Given the description of an element on the screen output the (x, y) to click on. 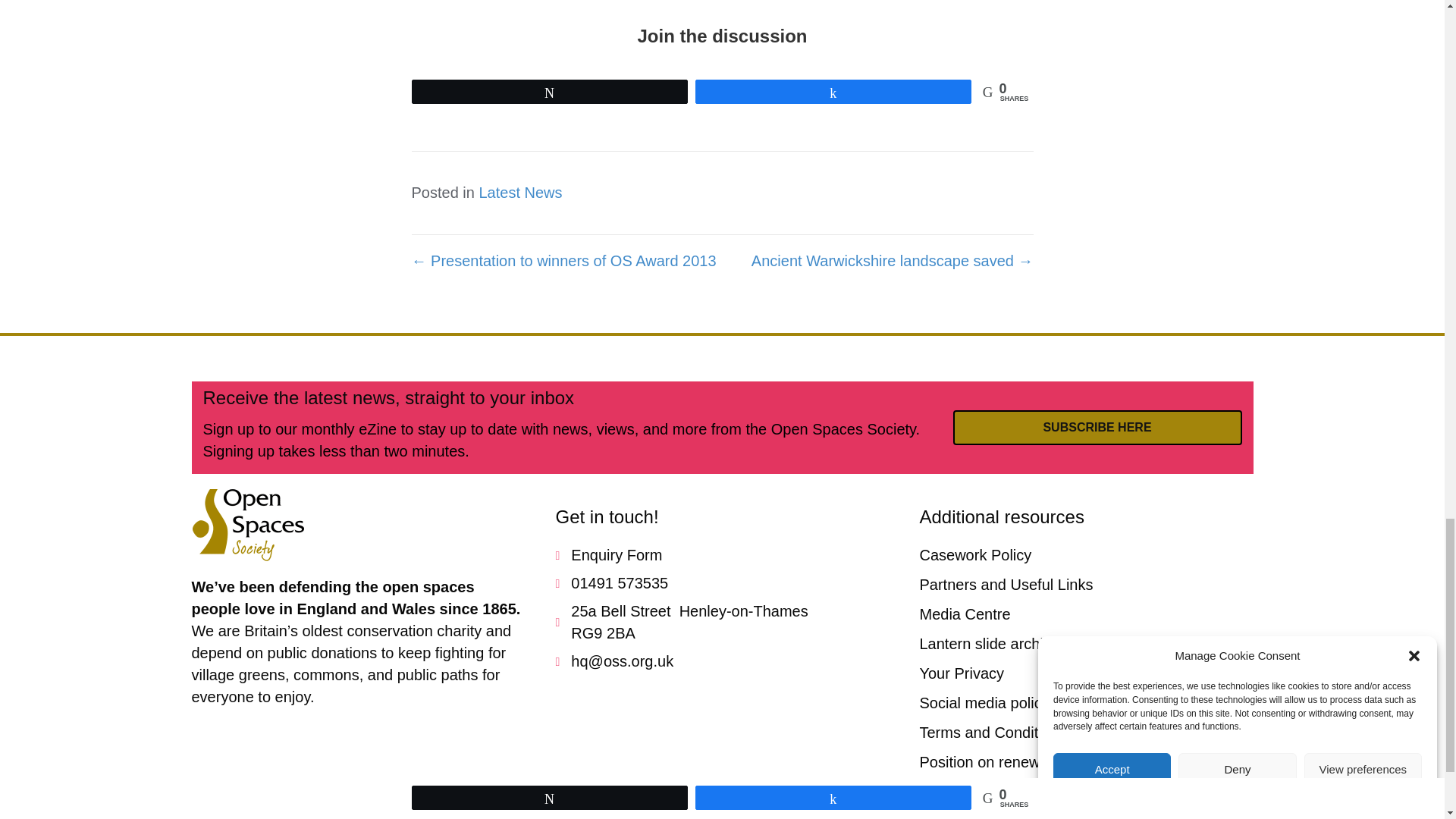
oss-logo (247, 524)
